Given the description of an element on the screen output the (x, y) to click on. 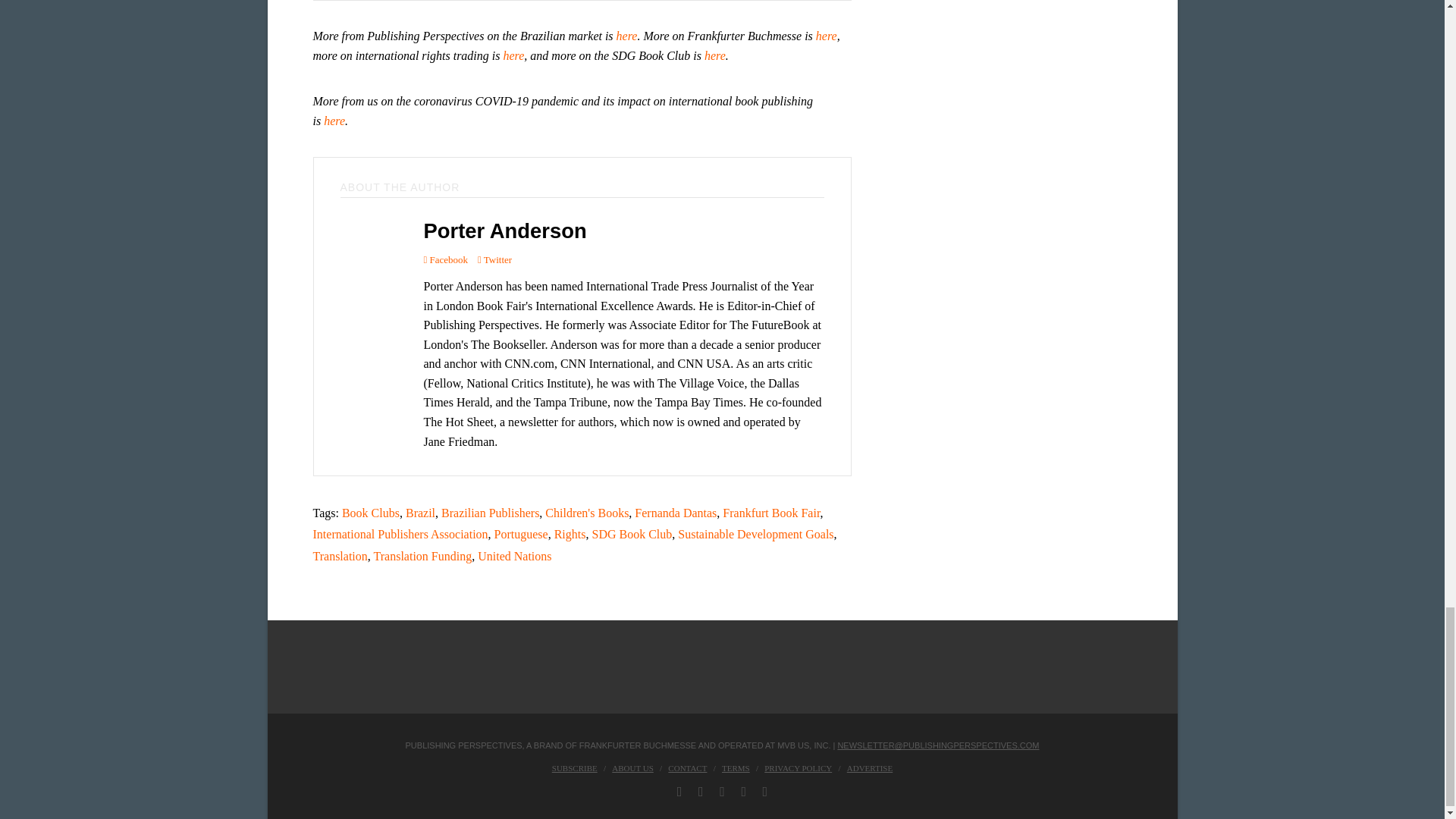
Subscribe to Publishing Perspectives (573, 767)
Terms and Conditions (735, 767)
Visit the Twitter Profile for Porter Anderson (494, 259)
Visit the Facebook Profile for Porter Anderson (445, 259)
